Given the description of an element on the screen output the (x, y) to click on. 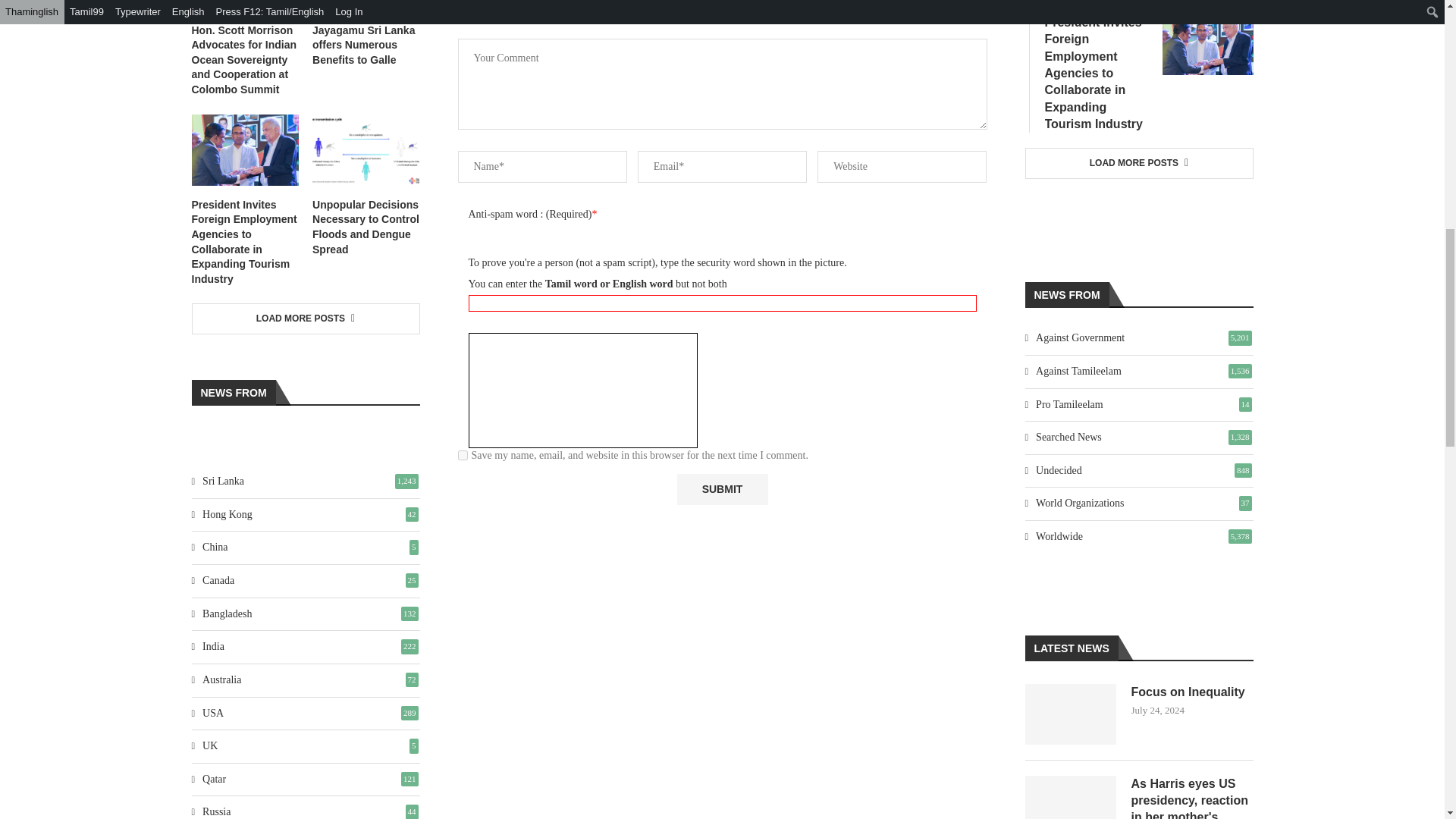
Submit (722, 489)
yes (462, 455)
Submit (722, 489)
